Given the description of an element on the screen output the (x, y) to click on. 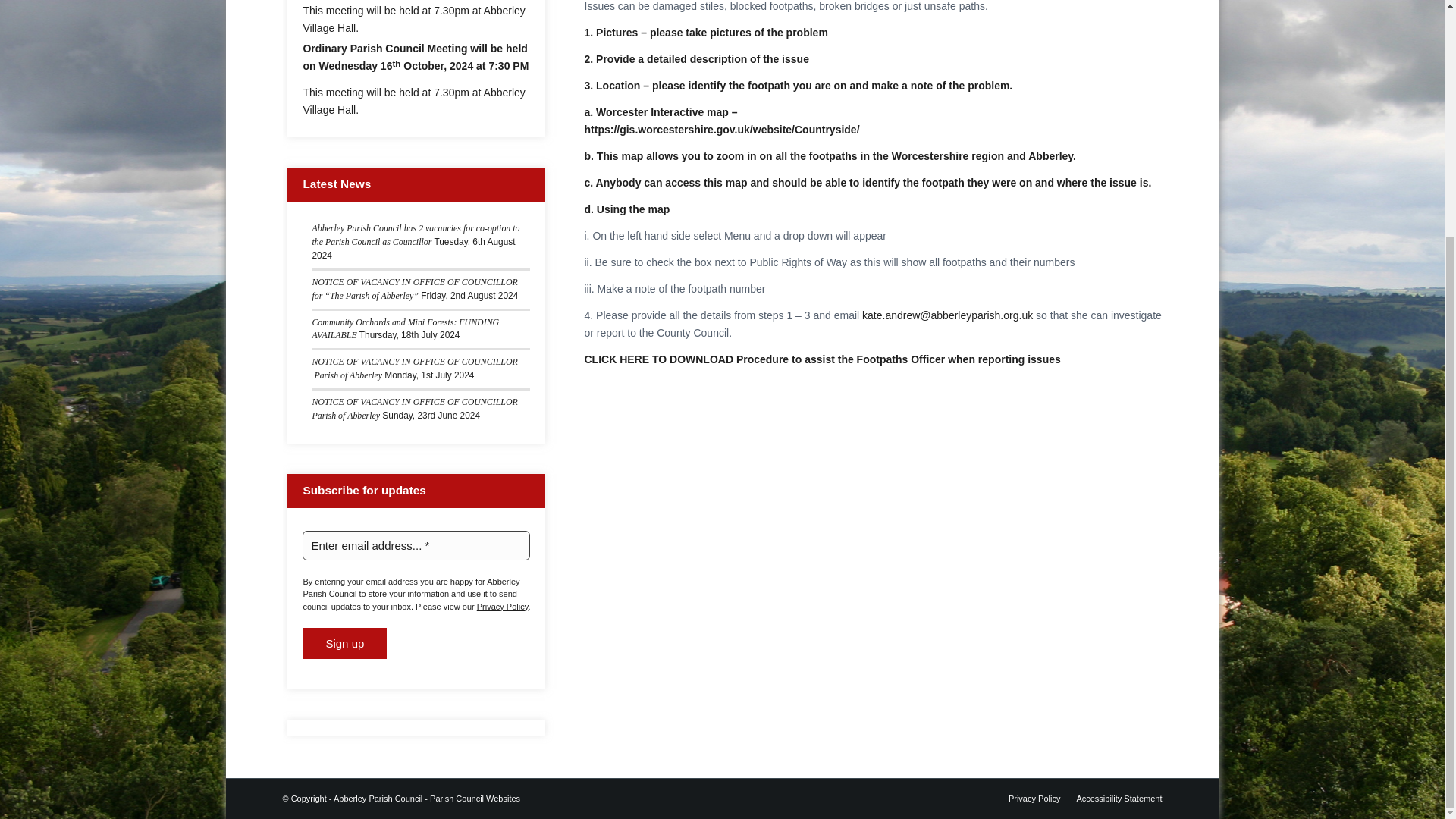
Enter email address... (415, 545)
Sign up (344, 643)
Community Orchards and Mini Forests: FUNDING AVAILABLE (405, 328)
View the Privacy Policy for Abberley Parish Council (502, 605)
